Given the description of an element on the screen output the (x, y) to click on. 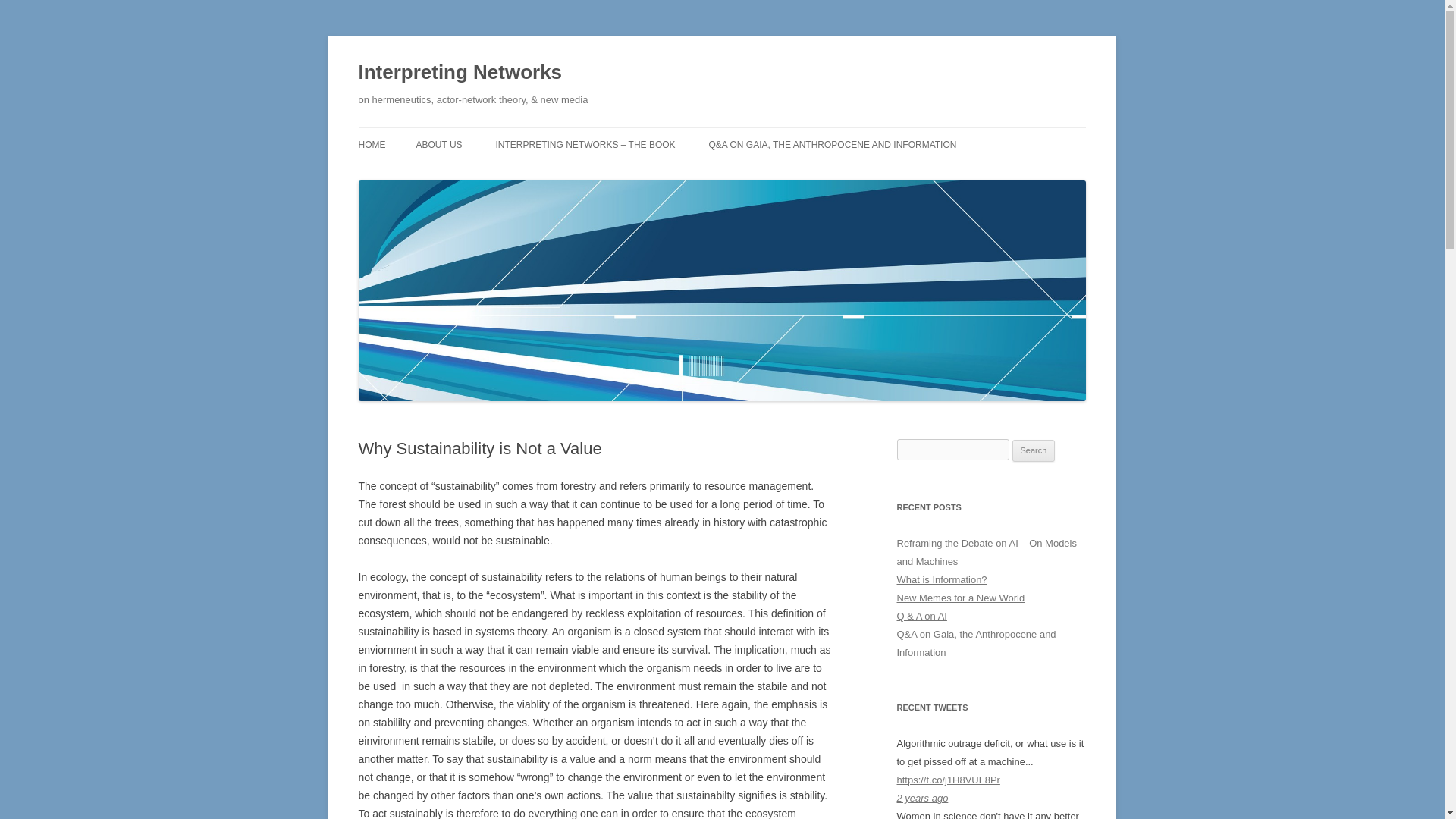
2 years ago (921, 797)
Search (1033, 450)
Skip to content (757, 132)
Search (1033, 450)
What is Information? (941, 579)
Interpreting Networks (460, 72)
Skip to content (757, 132)
Interpreting Networks (460, 72)
ABOUT US (437, 144)
New Memes for a New World (960, 597)
